Given the description of an element on the screen output the (x, y) to click on. 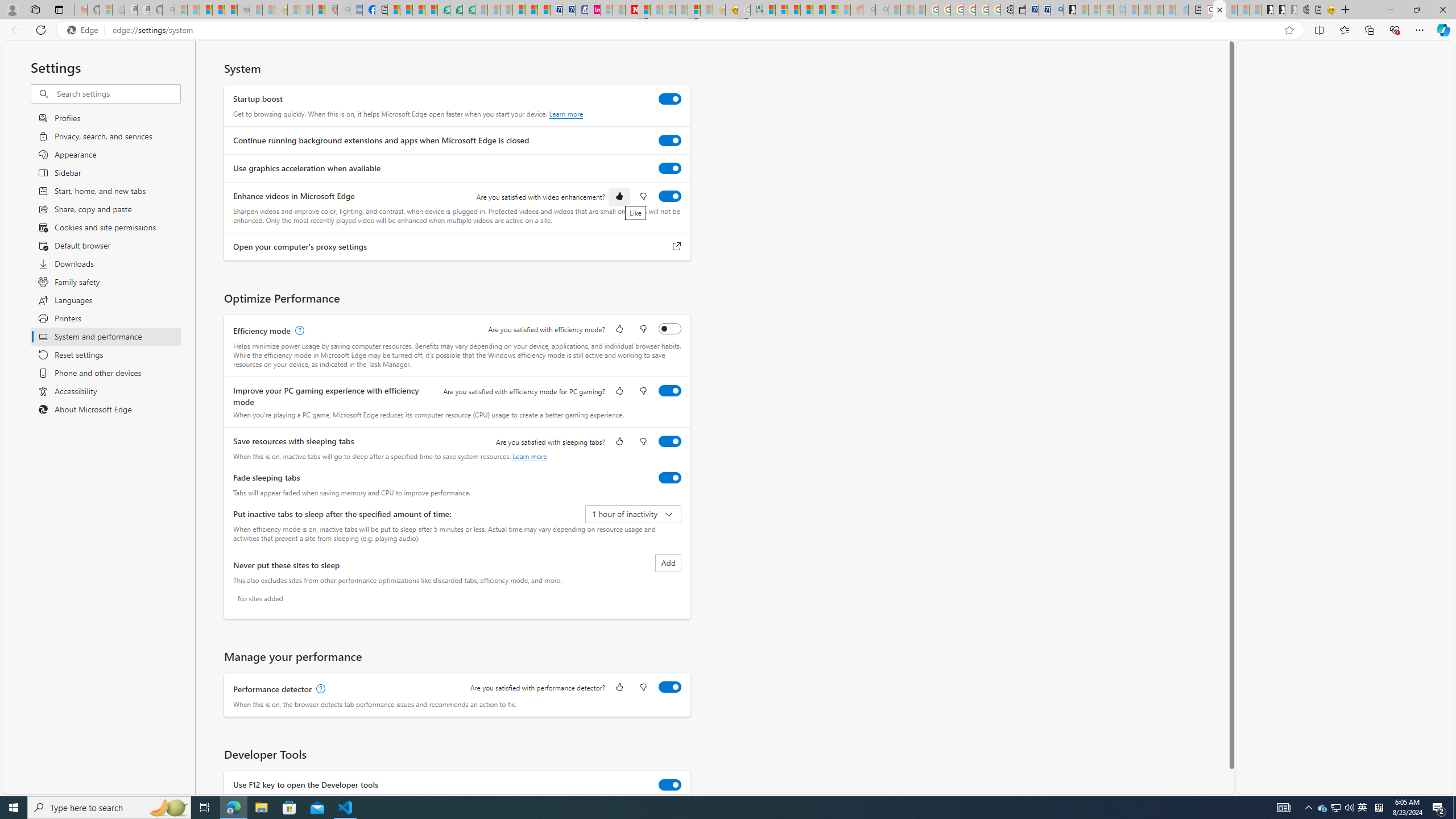
Latest Politics News & Archive | Newsweek.com (631, 9)
